Given the description of an element on the screen output the (x, y) to click on. 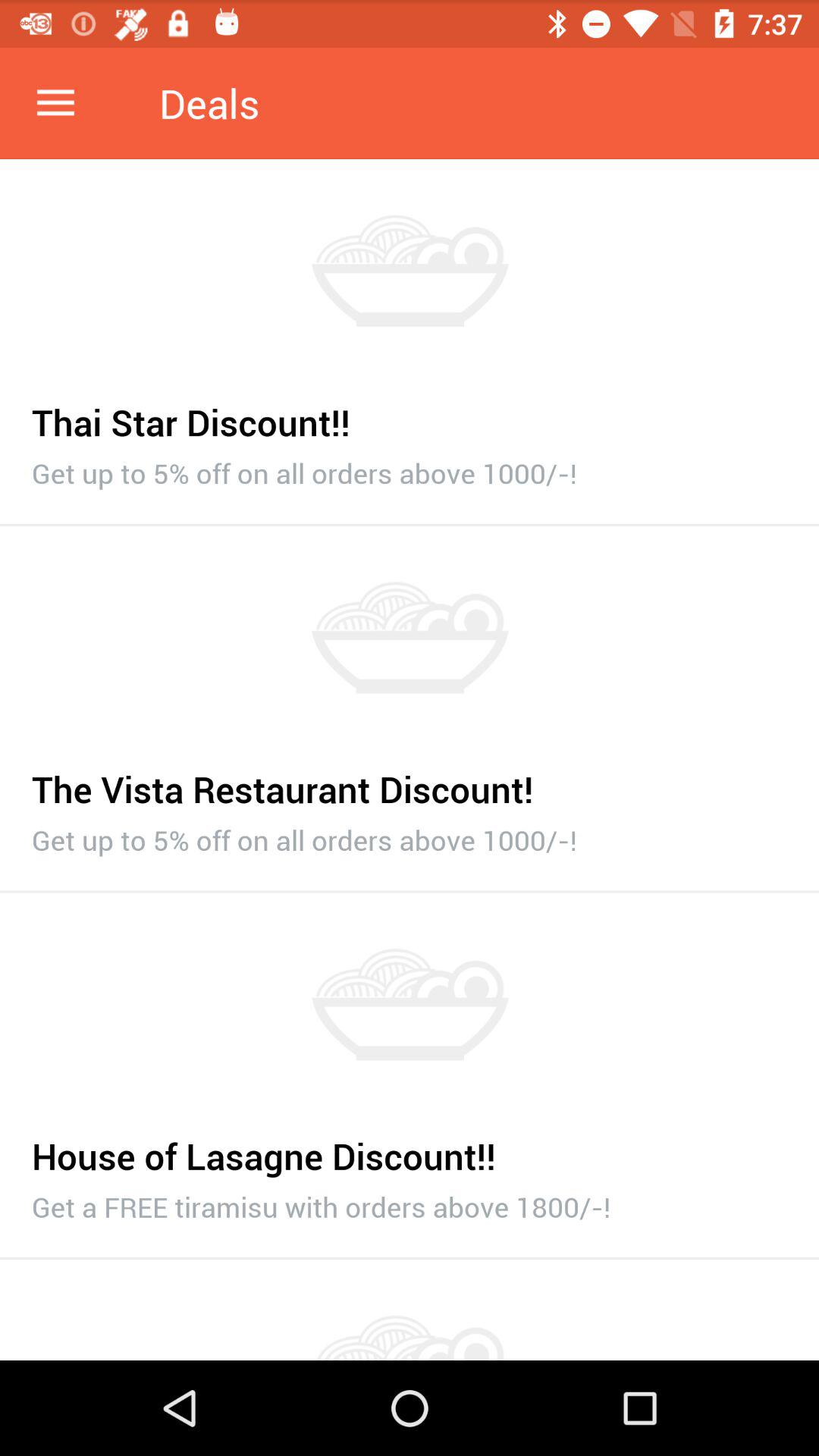
launch the get a free icon (409, 1202)
